Given the description of an element on the screen output the (x, y) to click on. 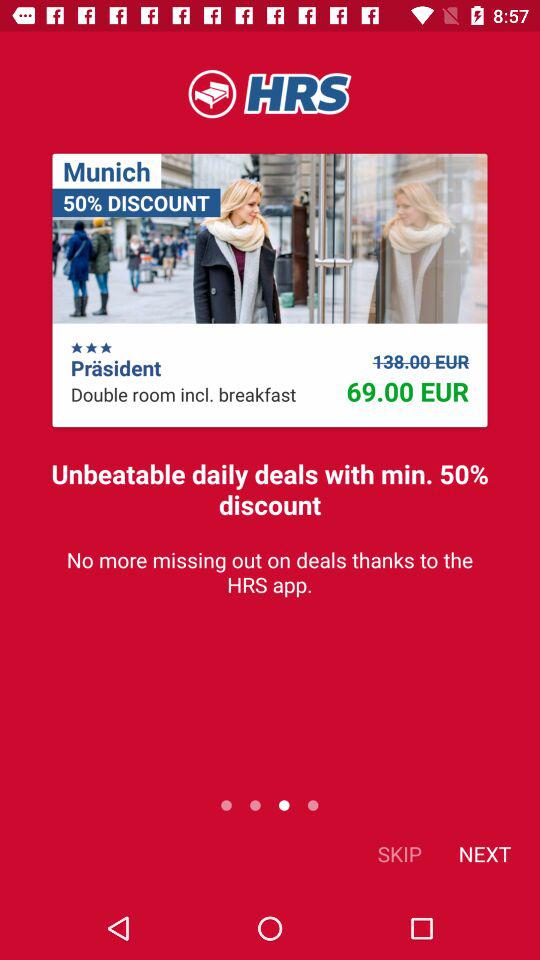
select the skip item (399, 853)
